Given the description of an element on the screen output the (x, y) to click on. 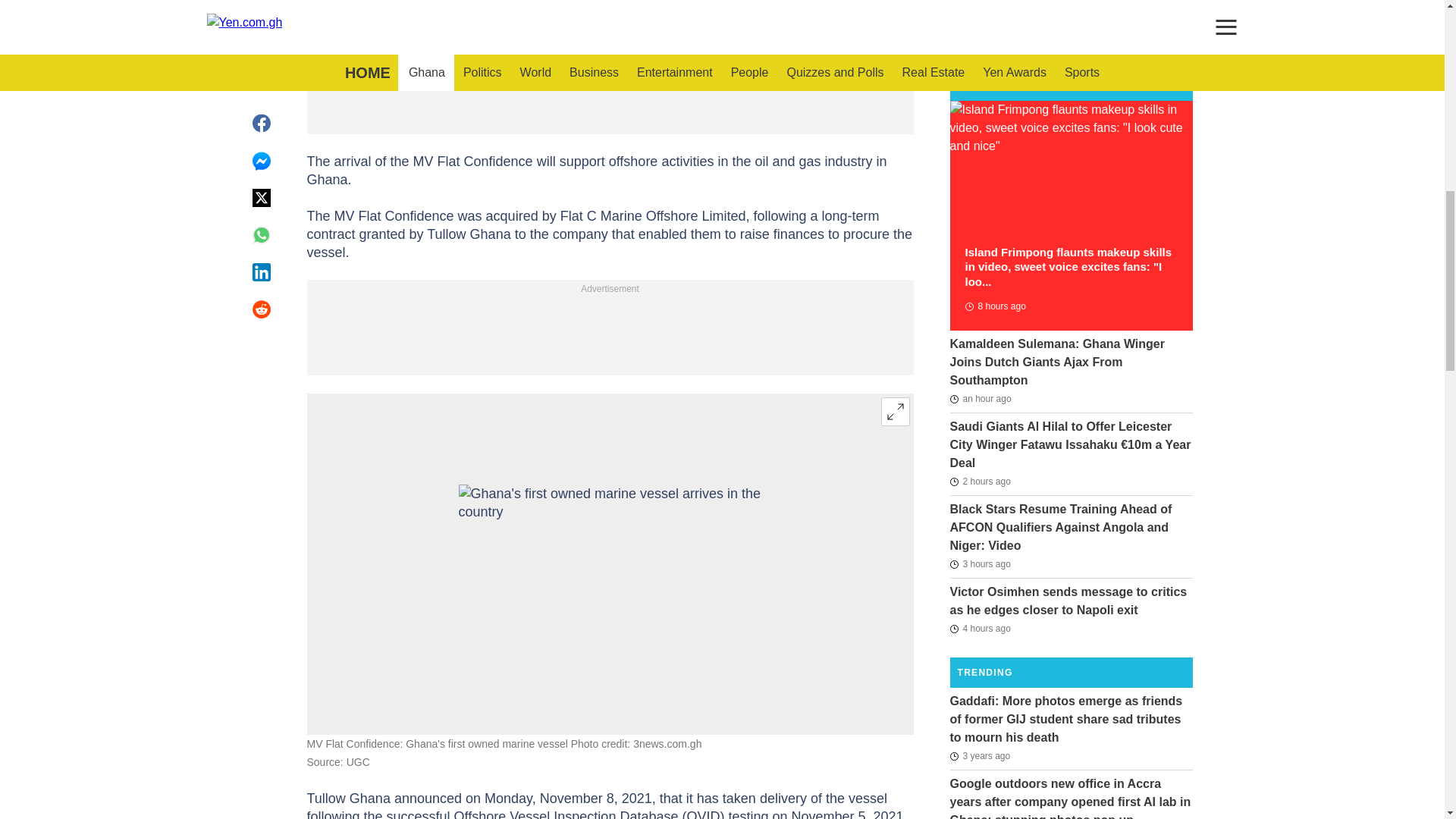
Expand image (895, 411)
2024-09-02T21:54:52Z (979, 398)
2024-09-02T18:57:06Z (979, 628)
Ghana's first owned marine vessel arrives in the country (609, 563)
2024-09-02T15:03:19Z (994, 306)
2021-07-22T16:27:37Z (979, 755)
2024-09-02T21:16:03Z (979, 481)
2024-09-02T20:25:33Z (979, 564)
